Given the description of an element on the screen output the (x, y) to click on. 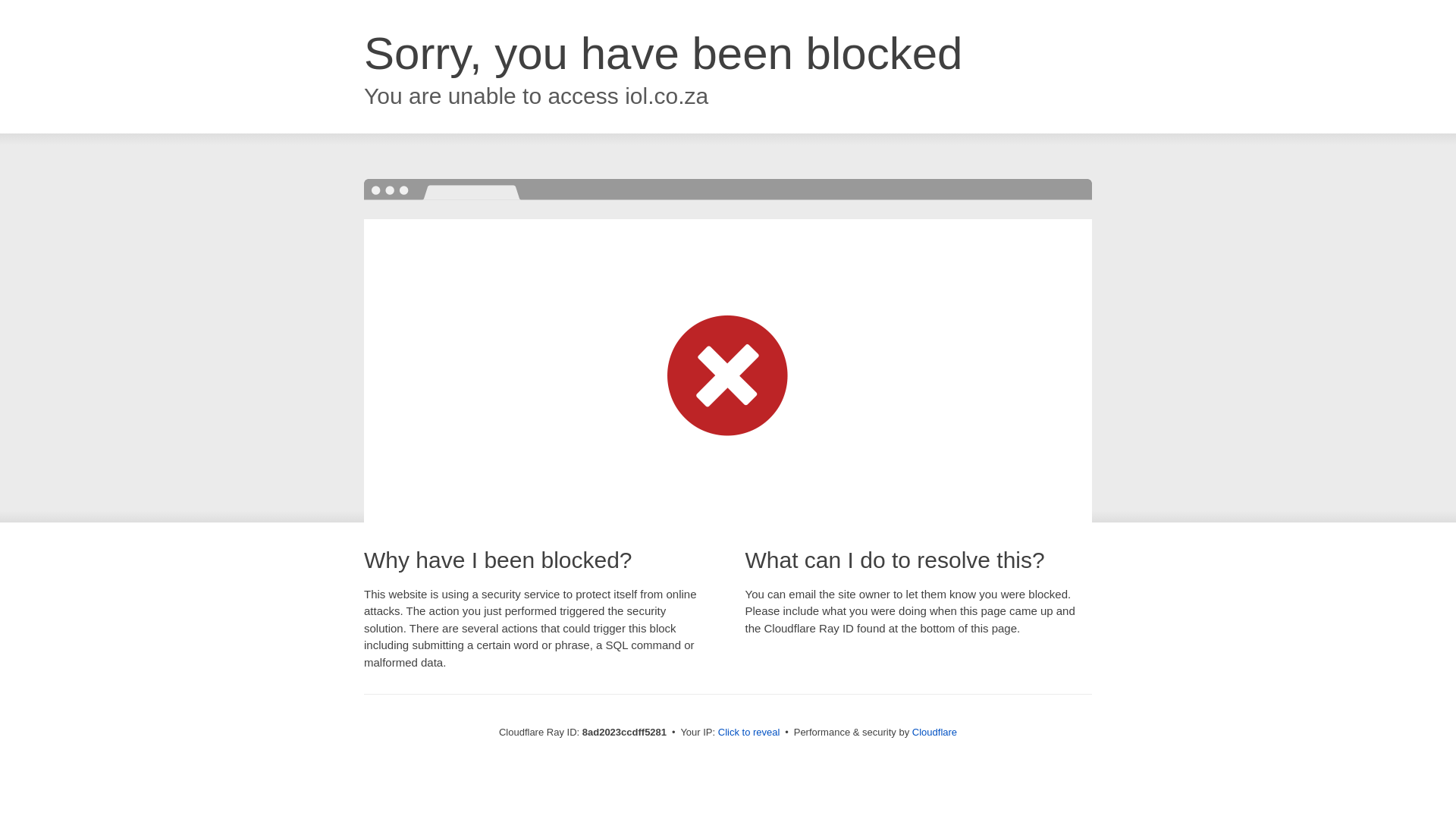
Cloudflare (934, 731)
Click to reveal (748, 732)
